Given the description of an element on the screen output the (x, y) to click on. 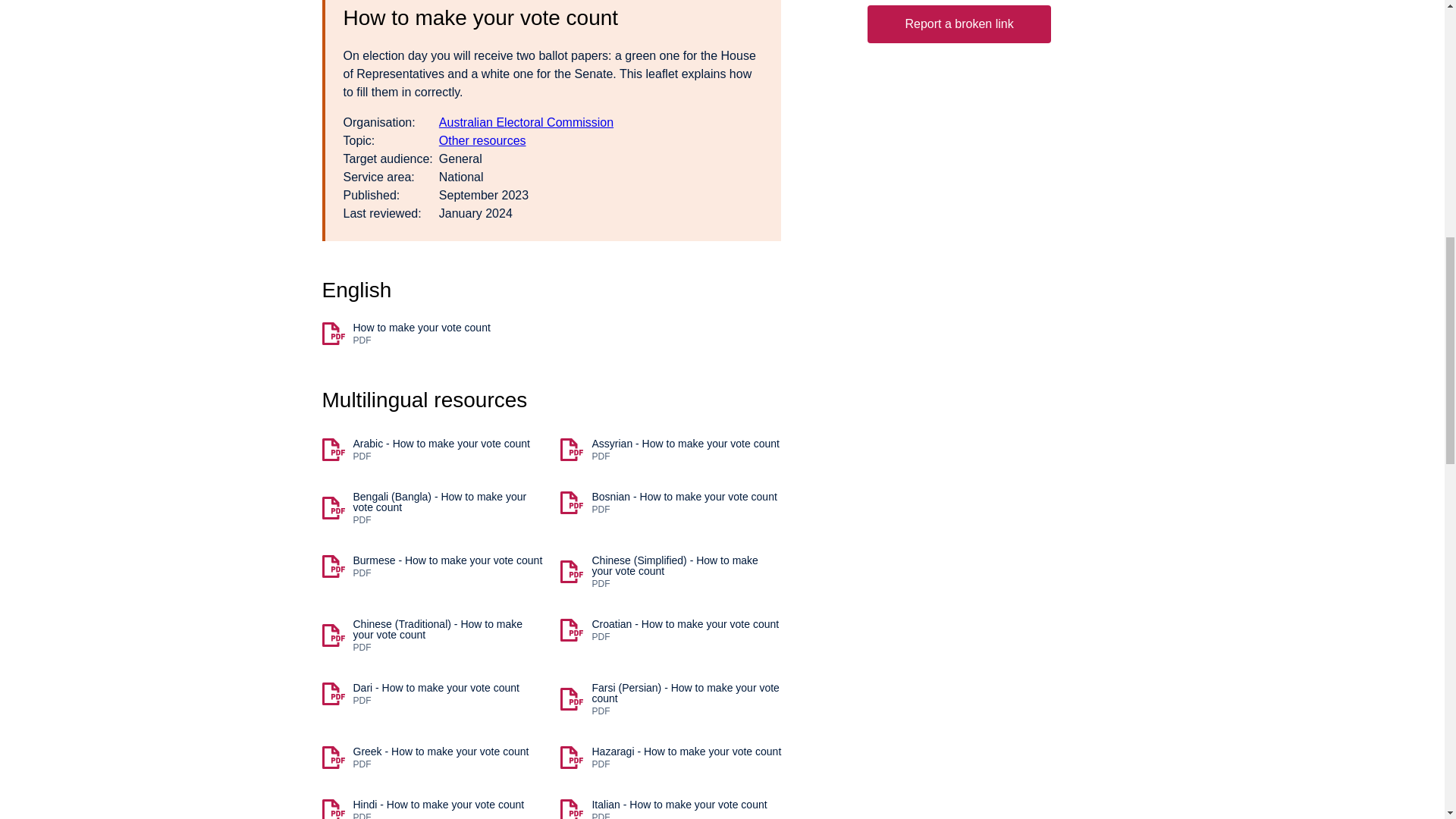
Other resources (482, 140)
Australian Electoral Commission (670, 502)
